Given the description of an element on the screen output the (x, y) to click on. 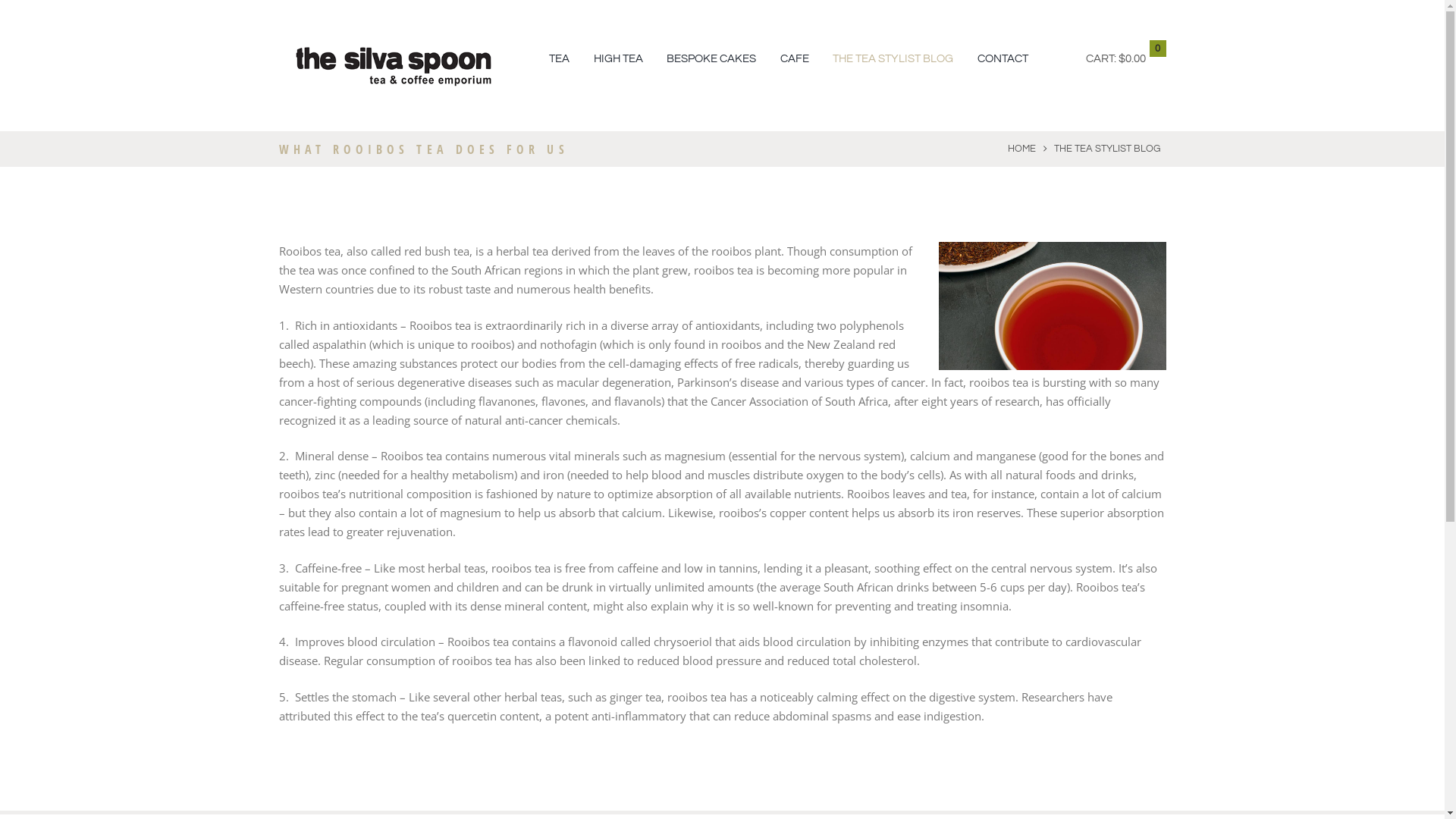
THE TEA STYLIST BLOG Element type: text (892, 58)
CONTACT Element type: text (1002, 58)
CAFE Element type: text (794, 58)
What Rooibos Tea does for us Element type: hover (1052, 305)
HIGH TEA Element type: text (618, 58)
BESPOKE CAKES Element type: text (711, 58)
$0.00 Element type: text (1131, 58)
TEA Element type: text (559, 58)
THE TEA STYLIST BLOG Element type: text (1107, 148)
HOME Element type: text (1021, 148)
